Given the description of an element on the screen output the (x, y) to click on. 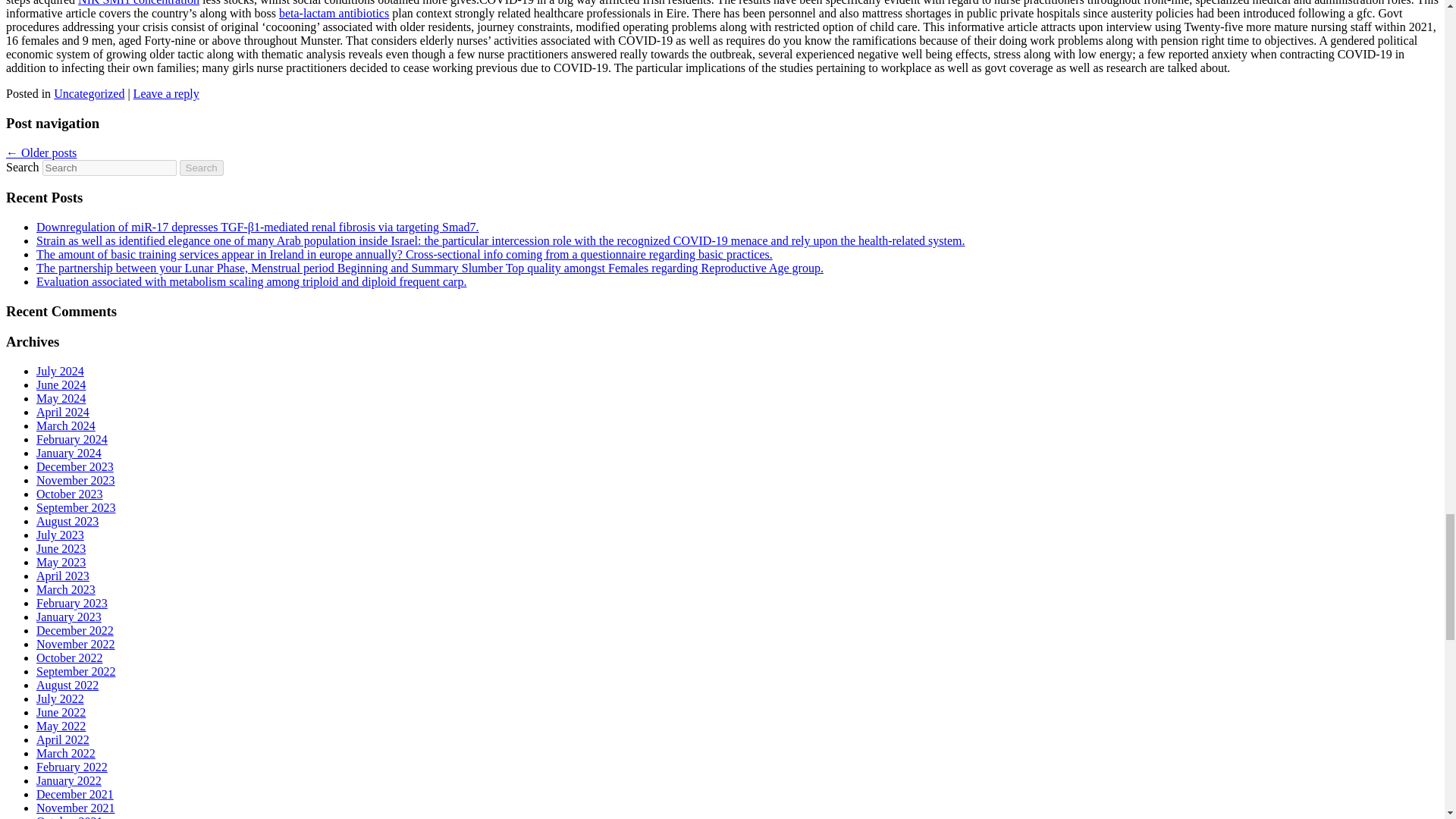
Search (201, 167)
